Given the description of an element on the screen output the (x, y) to click on. 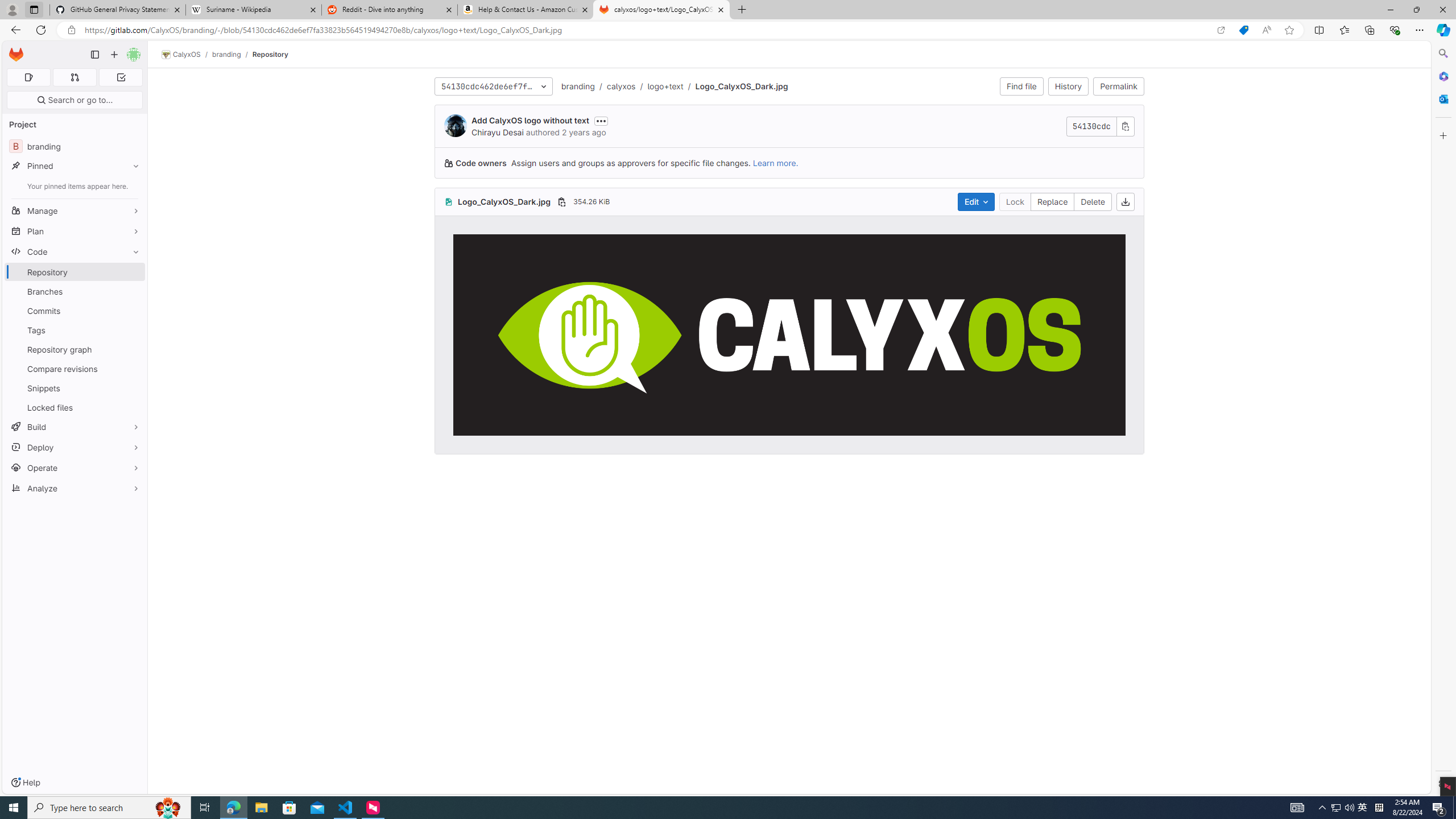
Locked files (74, 407)
54130cdc462de6ef7fa33823b564519494270e8b (493, 85)
Plan (74, 230)
Logo_CalyxOS_Dark.jpg (740, 85)
Bbranding (74, 145)
History (1068, 85)
Repository (269, 53)
Deploy (74, 447)
Plan (74, 230)
